Given the description of an element on the screen output the (x, y) to click on. 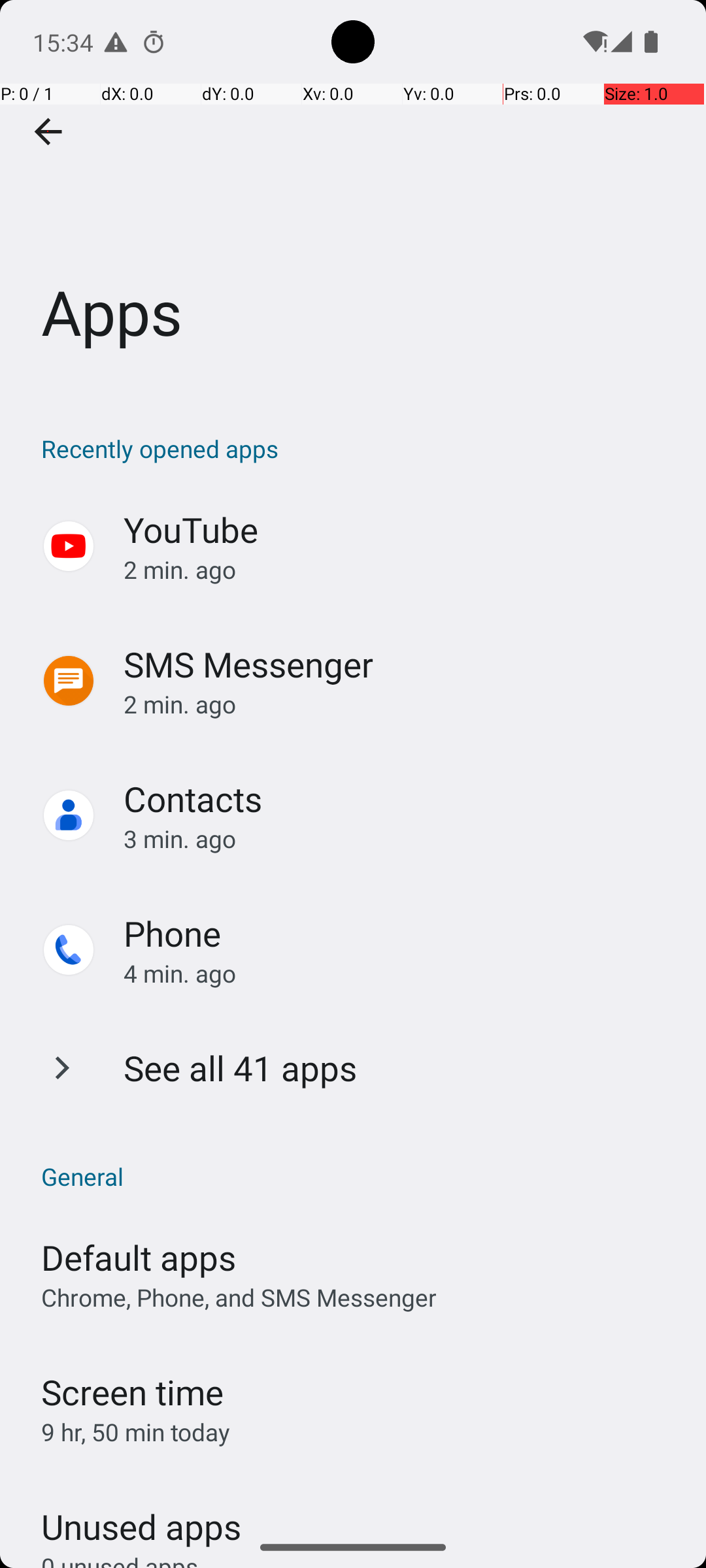
Apps Element type: android.widget.FrameLayout (353, 195)
Recently opened apps Element type: android.widget.TextView (359, 448)
2 min. ago Element type: android.widget.TextView (400, 569)
3 min. ago Element type: android.widget.TextView (400, 838)
4 min. ago Element type: android.widget.TextView (400, 972)
See all 41 apps Element type: android.widget.TextView (239, 1067)
General Element type: android.widget.TextView (359, 1175)
Default apps Element type: android.widget.TextView (138, 1257)
Chrome, Phone, and SMS Messenger Element type: android.widget.TextView (238, 1296)
Screen time Element type: android.widget.TextView (132, 1391)
9 hr, 50 min today Element type: android.widget.TextView (135, 1431)
Unused apps Element type: android.widget.TextView (141, 1514)
Android System notification:  Element type: android.widget.ImageView (115, 41)
